Given the description of an element on the screen output the (x, y) to click on. 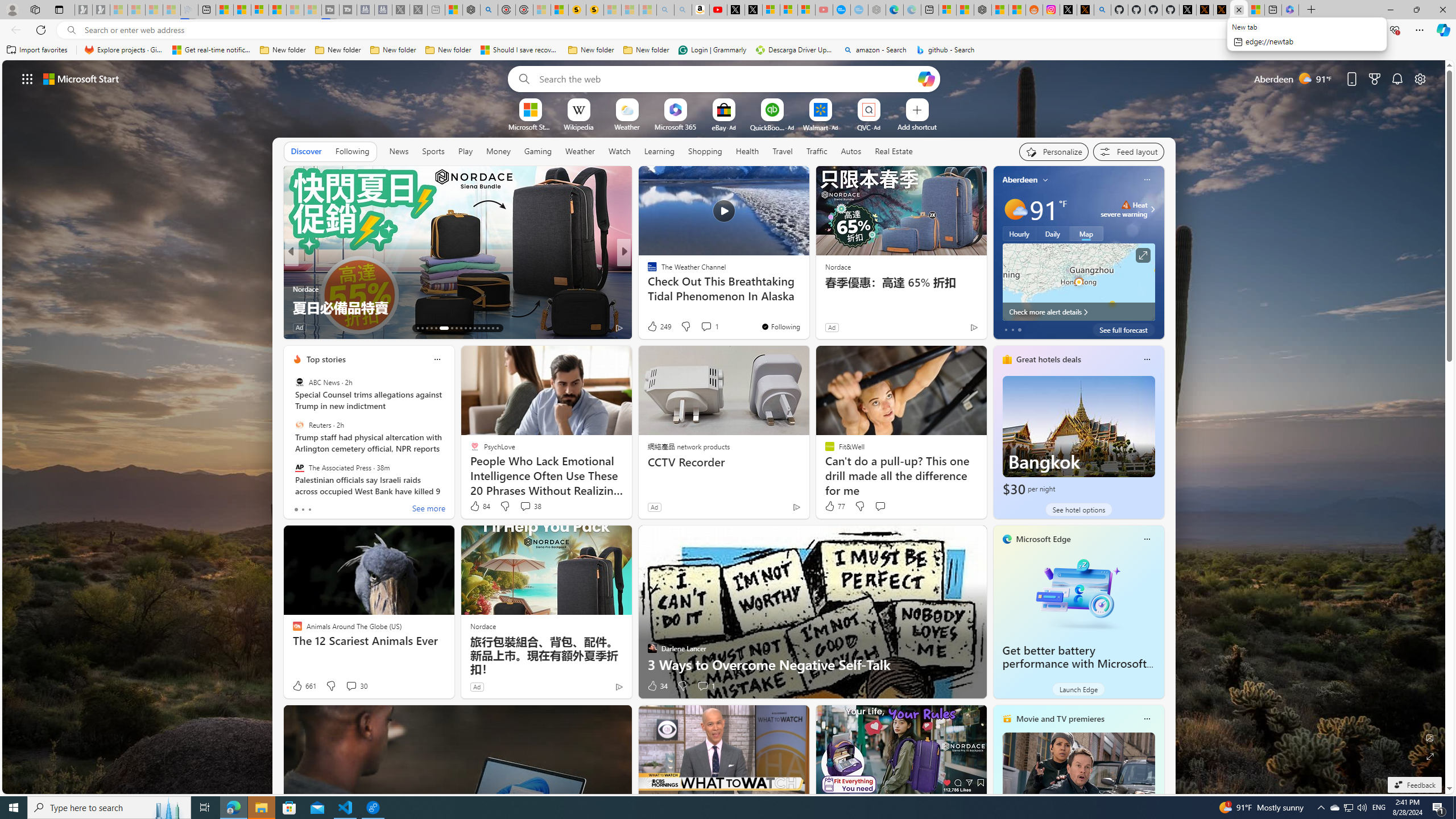
Autos (850, 151)
Search (520, 78)
View comments 366 Comment (703, 327)
Money (497, 151)
AutomationID: tab-15 (426, 328)
AutomationID: waffle (27, 78)
Microsoft start (81, 78)
Should I save recovered Word documents? - Microsoft Support (519, 49)
Notifications (1397, 78)
AutomationID: backgroundImagePicture (723, 426)
New folder (646, 49)
View comments 397 Comment (6, 327)
AutomationID: tab-16 (431, 328)
